Given the description of an element on the screen output the (x, y) to click on. 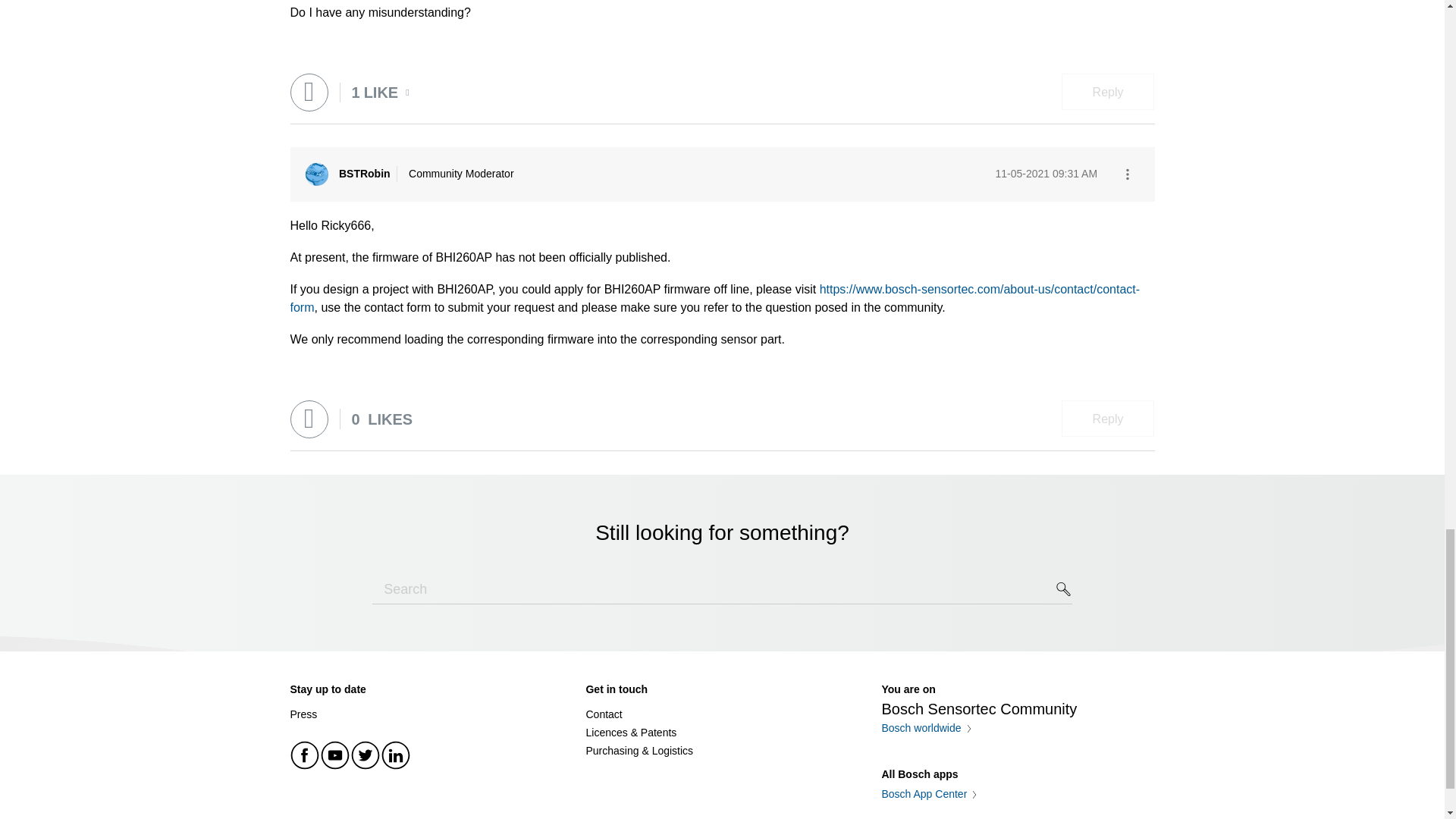
Facebook (304, 755)
Youtube (335, 755)
Linkedin (395, 755)
Twitter (365, 755)
Icon search (1064, 589)
